Given the description of an element on the screen output the (x, y) to click on. 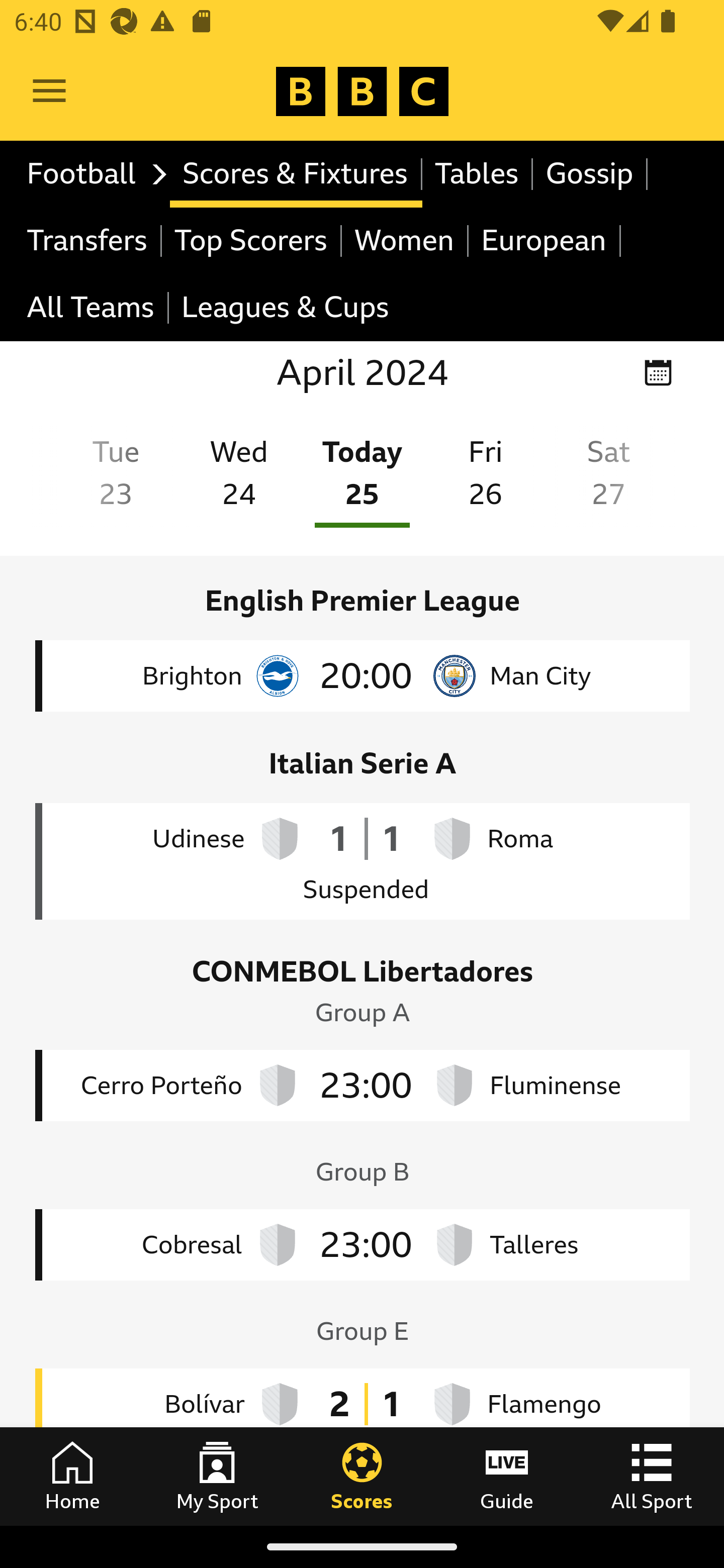
Open Menu (49, 91)
Football (91, 173)
Scores & Fixtures (295, 173)
Tables (477, 173)
Gossip (590, 173)
Transfers (88, 240)
Top Scorers (251, 240)
Women (405, 240)
European (544, 240)
All Teams (91, 308)
Leagues & Cups (284, 308)
Home (72, 1475)
My Sport (216, 1475)
Guide (506, 1475)
All Sport (651, 1475)
